Given the description of an element on the screen output the (x, y) to click on. 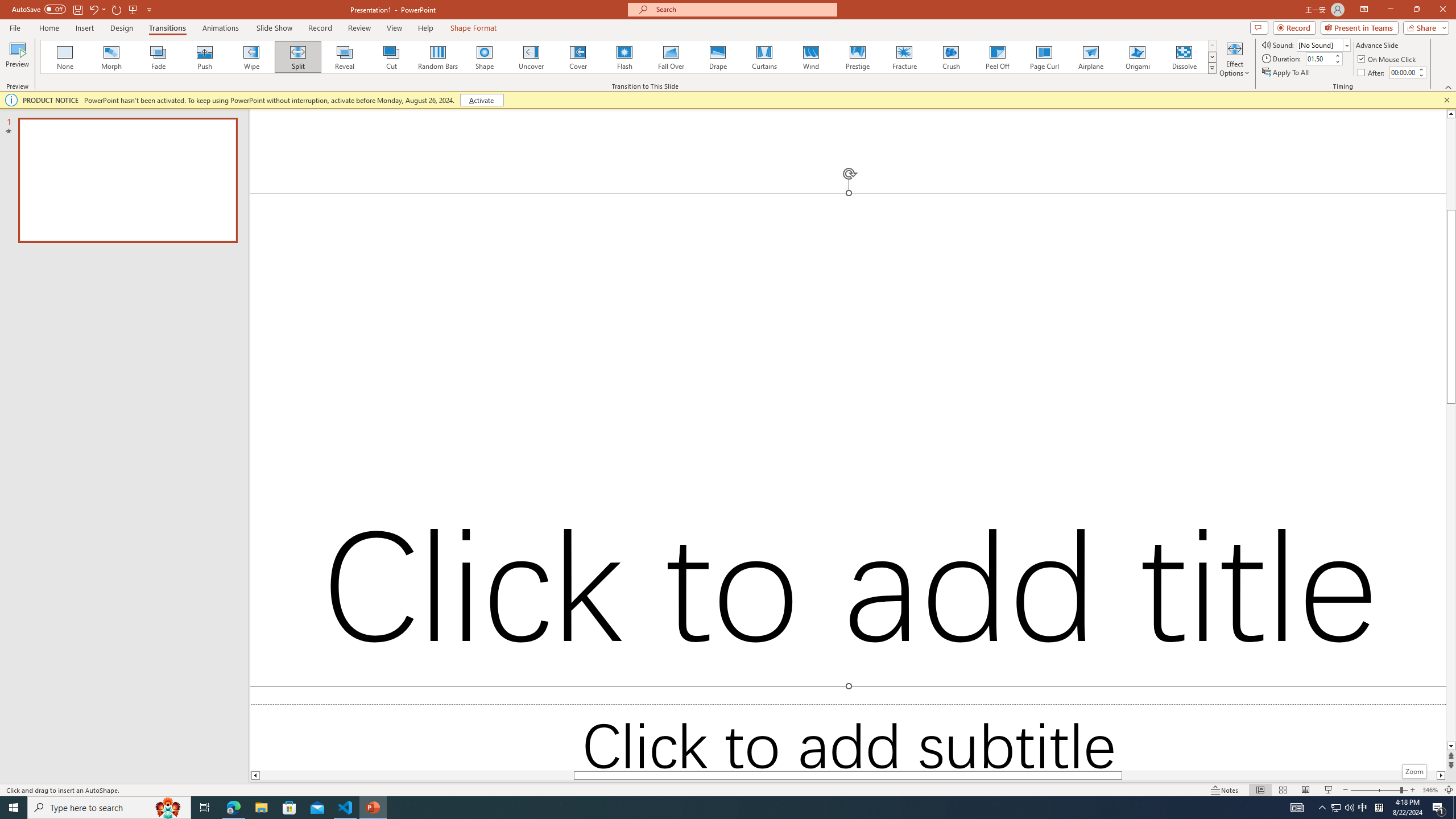
Wipe (251, 56)
Page Curl (1043, 56)
Fall Over (670, 56)
Uncover (531, 56)
AutomationID: AnimationTransitionGallery (628, 56)
Dissolve (1183, 56)
